Given the description of an element on the screen output the (x, y) to click on. 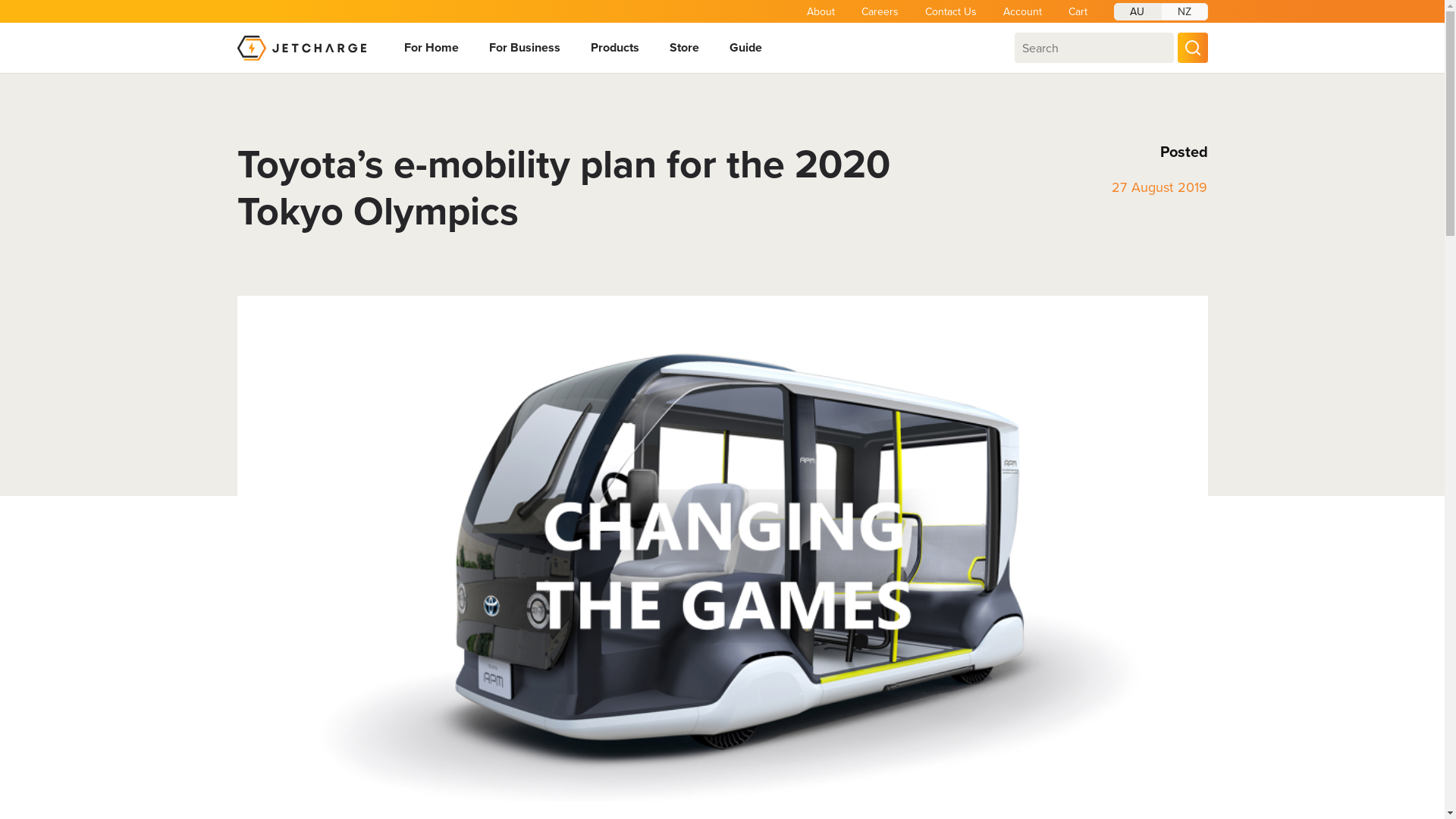
Guide Element type: text (745, 47)
AU Element type: text (1136, 11)
For Business Element type: text (523, 47)
About Element type: text (820, 10)
Cart Element type: text (1076, 10)
Store Element type: text (683, 47)
Contact Us Element type: text (950, 10)
For Home Element type: text (430, 47)
Careers Element type: text (879, 10)
NZ Element type: text (1183, 11)
Products Element type: text (613, 47)
Account Element type: text (1021, 10)
